Given the description of an element on the screen output the (x, y) to click on. 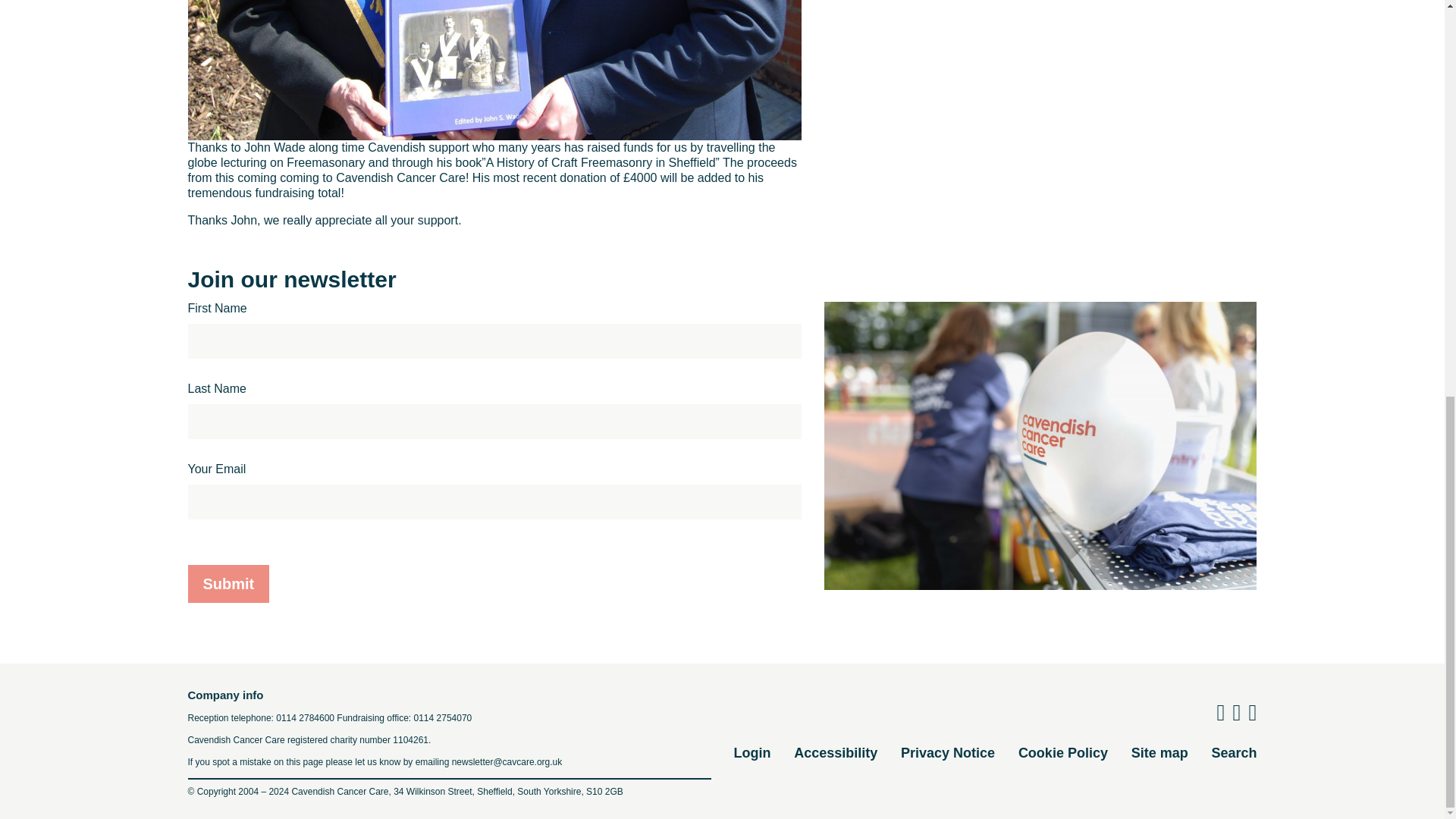
Submit (228, 583)
